Given the description of an element on the screen output the (x, y) to click on. 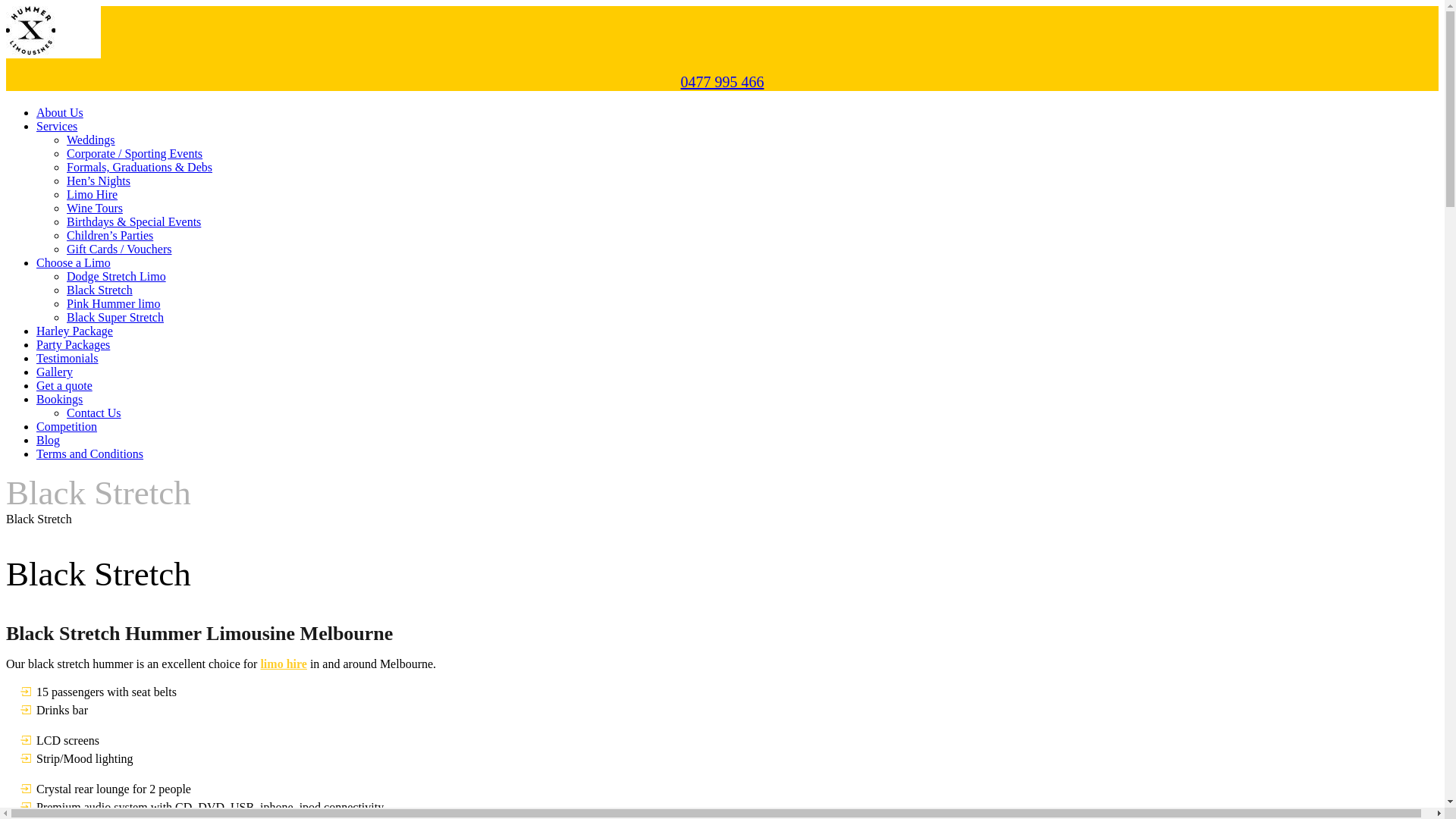
Black Stretch Element type: text (99, 289)
0477 995 466 Element type: text (722, 81)
Pink Hummer limo Element type: text (113, 303)
Corporate / Sporting Events Element type: text (134, 153)
Choose a Limo Element type: text (73, 262)
Gift Cards / Vouchers Element type: text (119, 248)
Party Packages Element type: text (72, 344)
Harley Package Element type: text (74, 330)
Formals, Graduations & Debs Element type: text (139, 166)
Competition Element type: text (66, 426)
limo hire Element type: text (283, 663)
Services Element type: text (56, 125)
Gallery Element type: text (54, 371)
Wine Tours Element type: text (94, 207)
Weddings Element type: text (90, 139)
About Us Element type: text (59, 112)
Limo Hire Element type: text (91, 194)
Blog Element type: text (47, 439)
Terms and Conditions Element type: text (89, 453)
Contact Us Element type: text (93, 412)
Black Super Stretch Element type: text (114, 316)
Testimonials Element type: text (67, 357)
Dodge Stretch Limo Element type: text (116, 275)
Get a quote Element type: text (64, 385)
Bookings Element type: text (59, 398)
Birthdays & Special Events Element type: text (133, 221)
